Given the description of an element on the screen output the (x, y) to click on. 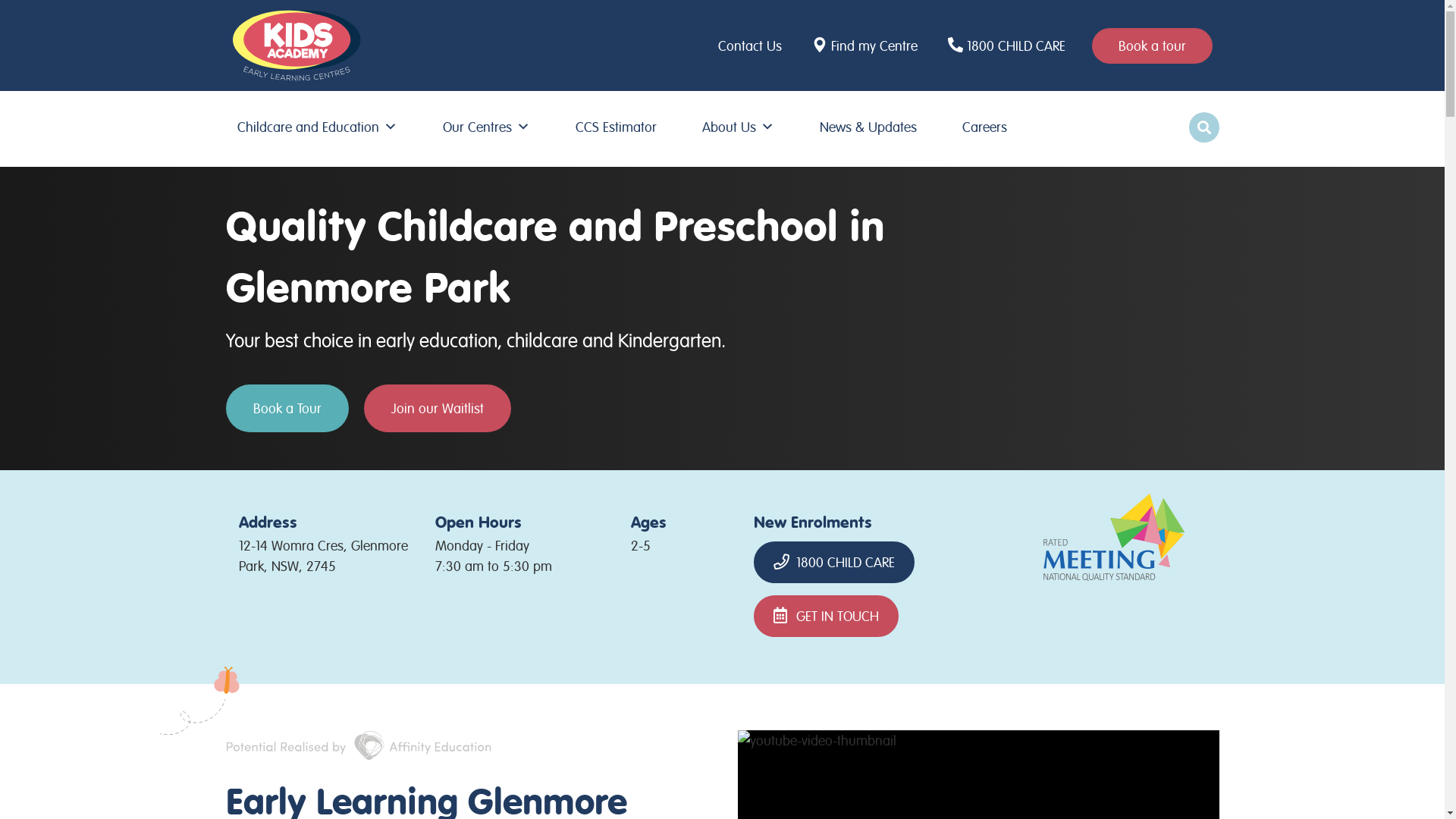
Book a tour Element type: text (1152, 44)
butterfly-buzz-1 Element type: hover (199, 702)
About Us Element type: text (737, 127)
Contact Us Element type: text (753, 44)
Join our Waitlist Element type: text (437, 408)
Careers Element type: text (983, 127)
1800 CHILD CARE Element type: text (1008, 44)
Our Centres Element type: text (486, 127)
Search Element type: text (15, 17)
Find my Centre Element type: text (866, 44)
GET IN TOUCH Element type: text (825, 616)
News & Updates Element type: text (867, 127)
Book a Tour Element type: text (286, 408)
Childcare and Education Element type: text (316, 127)
CCS Estimator Element type: text (615, 127)
1800 CHILD CARE Element type: text (833, 562)
